Given the description of an element on the screen output the (x, y) to click on. 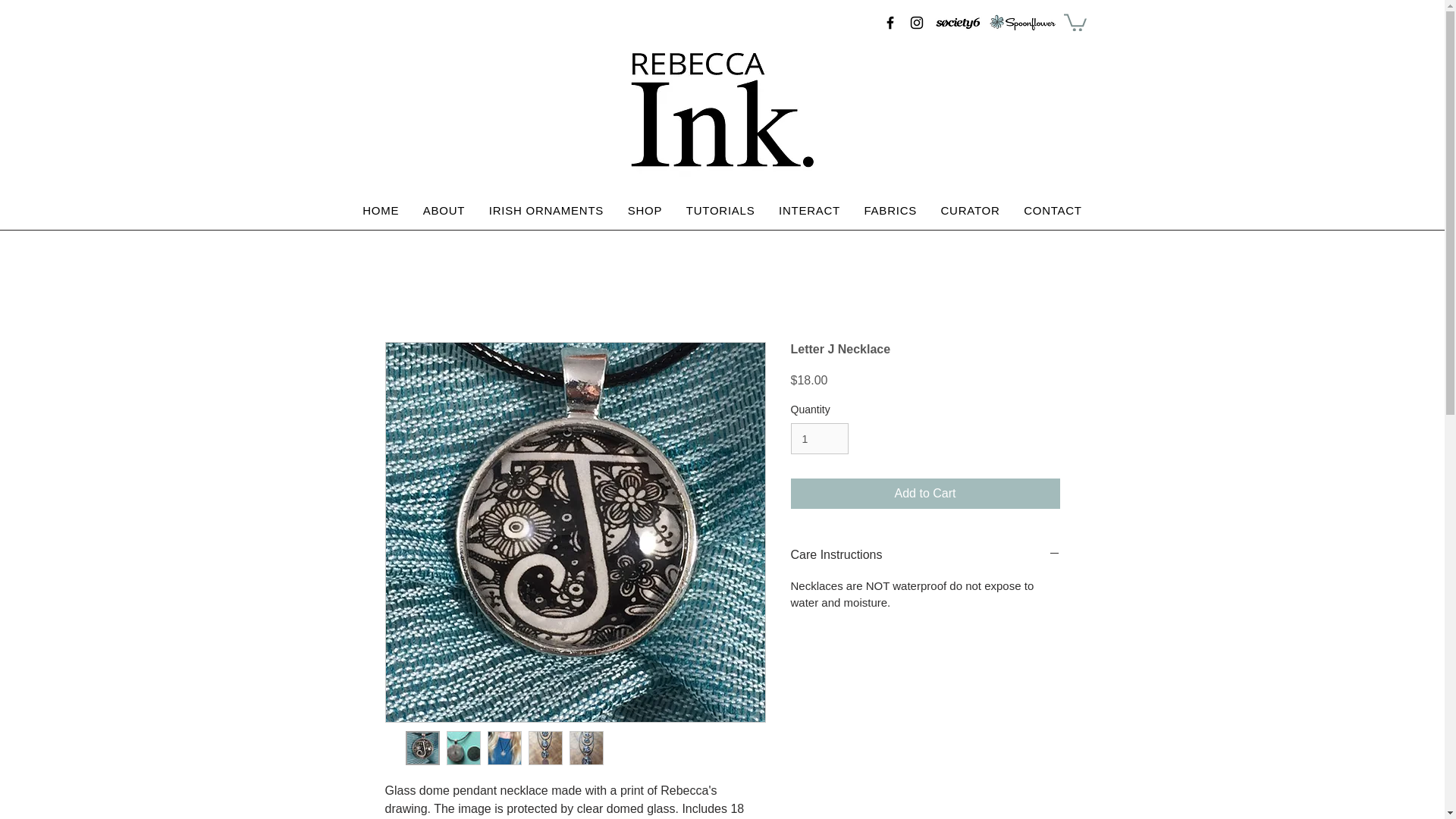
CURATOR (969, 210)
HOME (380, 210)
TUTORIALS (720, 210)
1 (818, 438)
SHOP (644, 210)
Care Instructions (924, 555)
IRISH ORNAMENTS (546, 210)
ABOUT (443, 210)
Add to Cart (924, 493)
FABRICS (889, 210)
CONTACT (1052, 210)
INTERACT (809, 210)
